Given the description of an element on the screen output the (x, y) to click on. 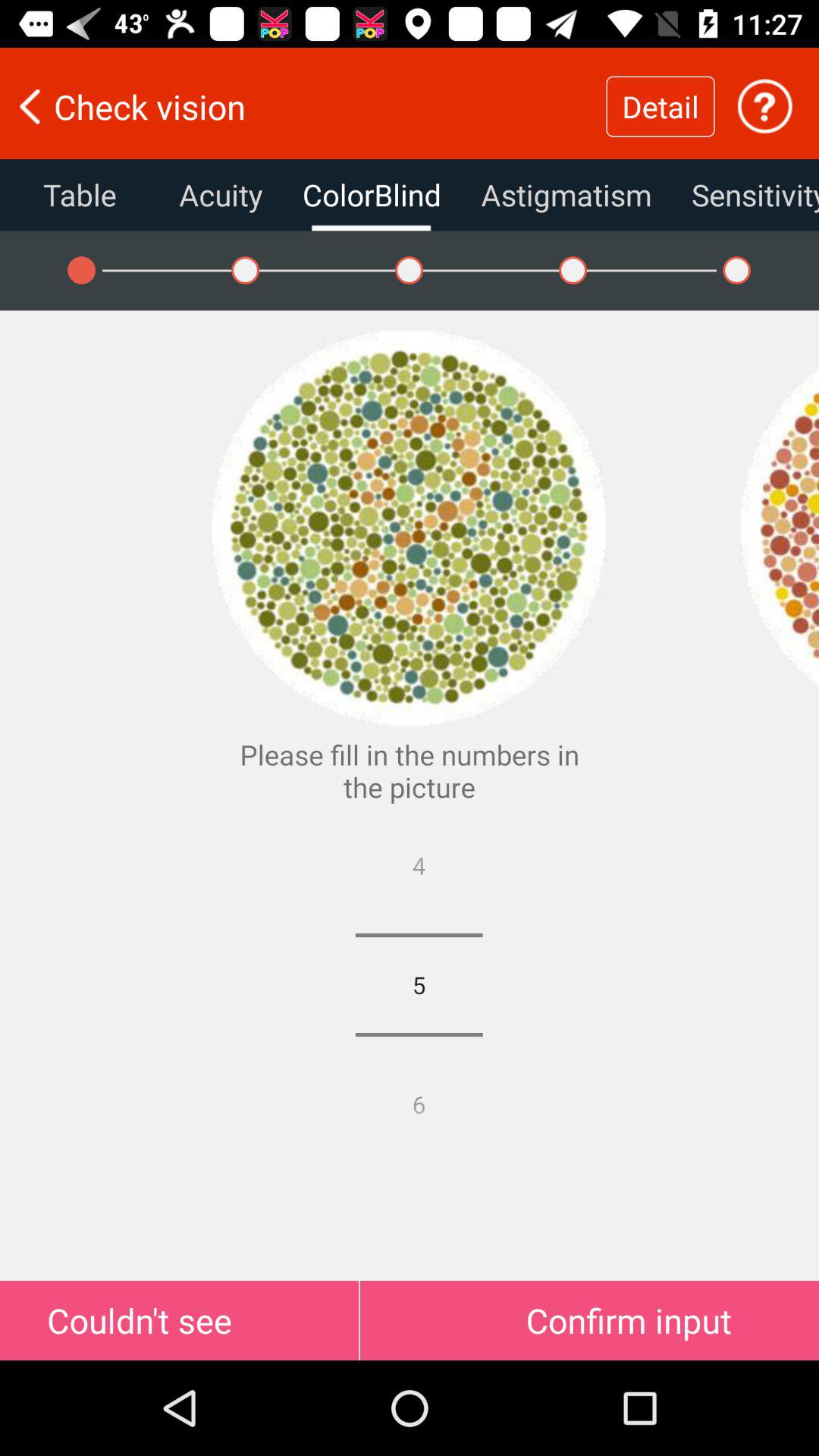
picture (779, 527)
